Given the description of an element on the screen output the (x, y) to click on. 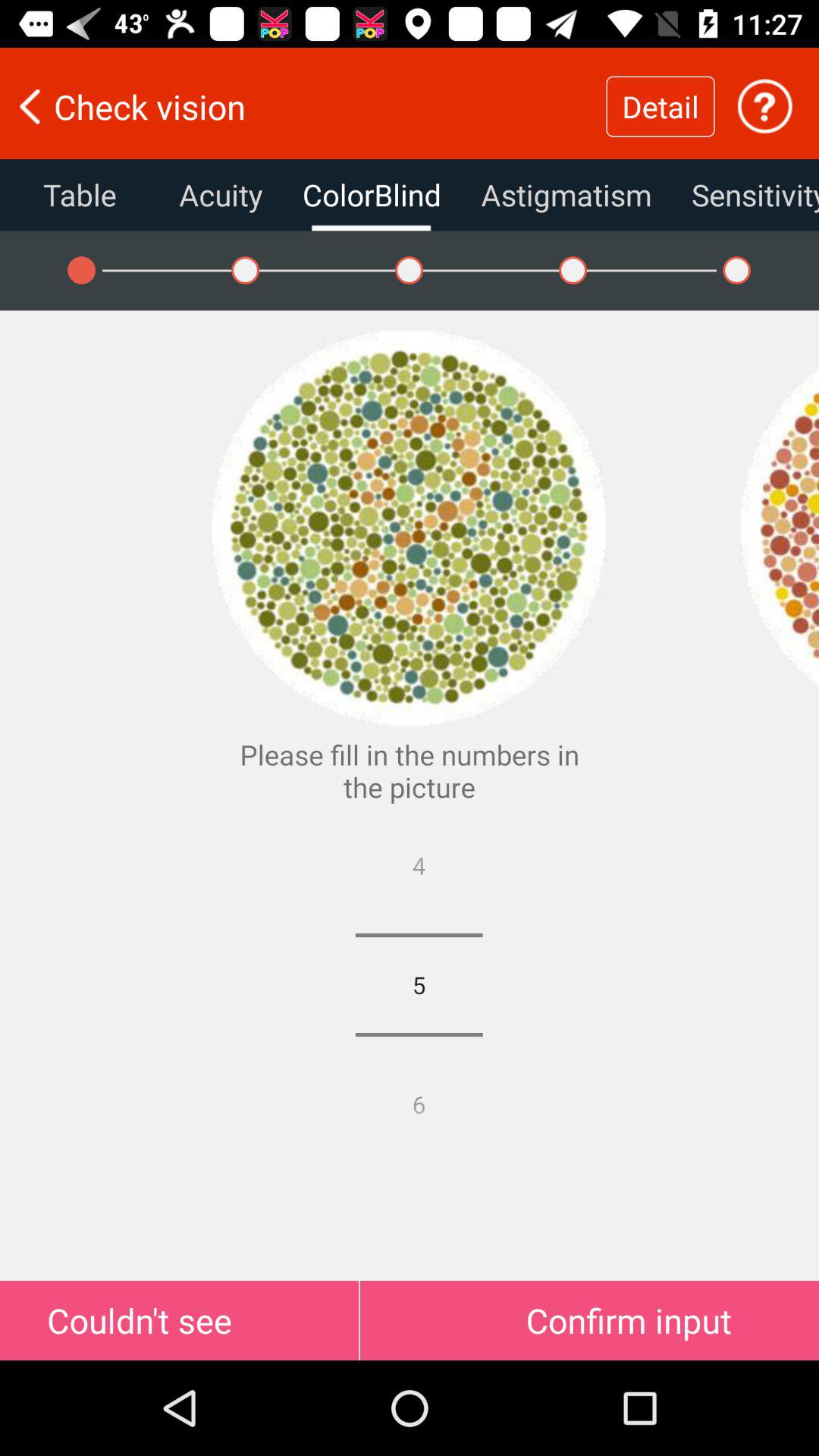
picture (779, 527)
